Given the description of an element on the screen output the (x, y) to click on. 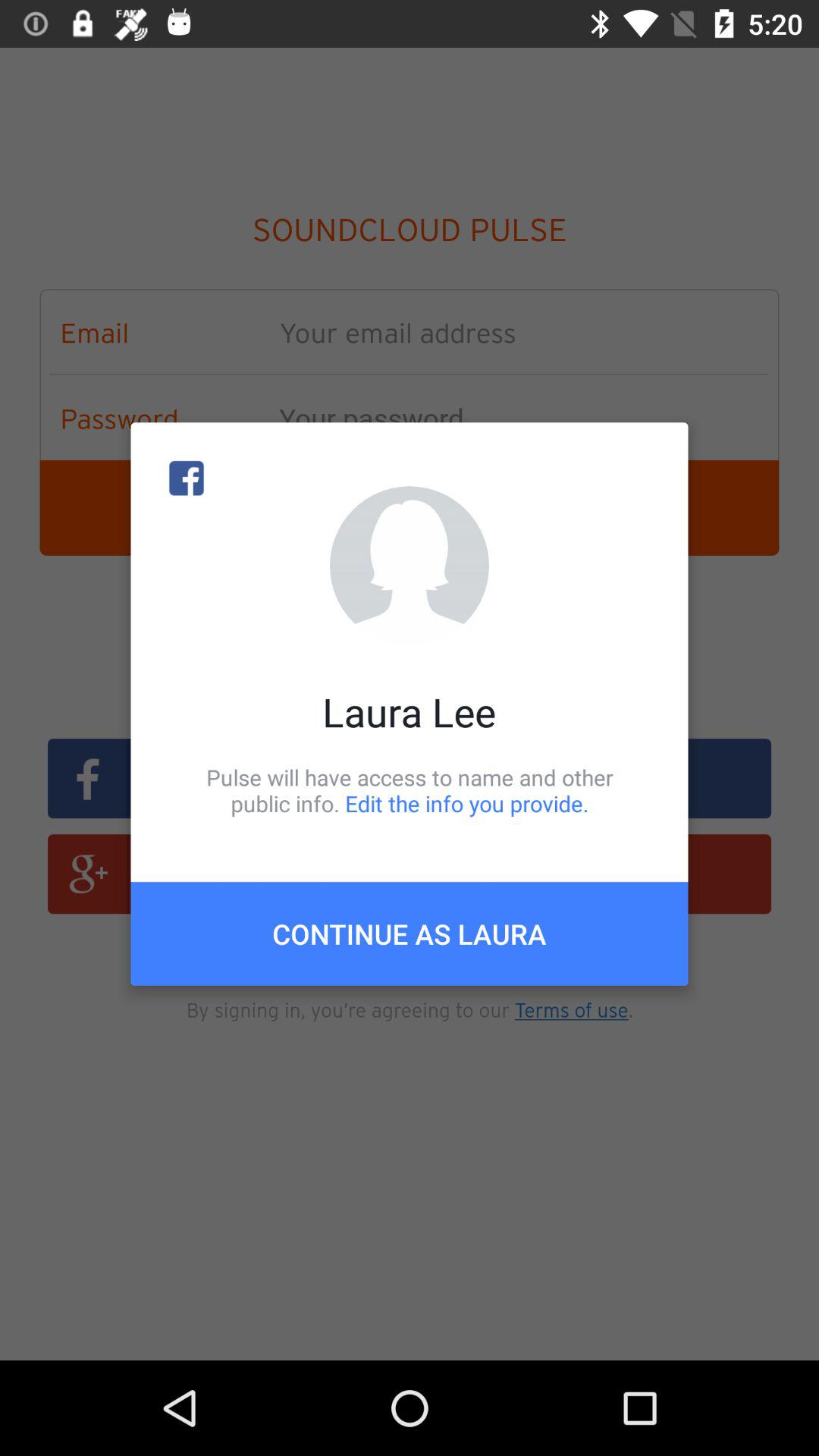
turn off the icon above continue as laura item (409, 790)
